Given the description of an element on the screen output the (x, y) to click on. 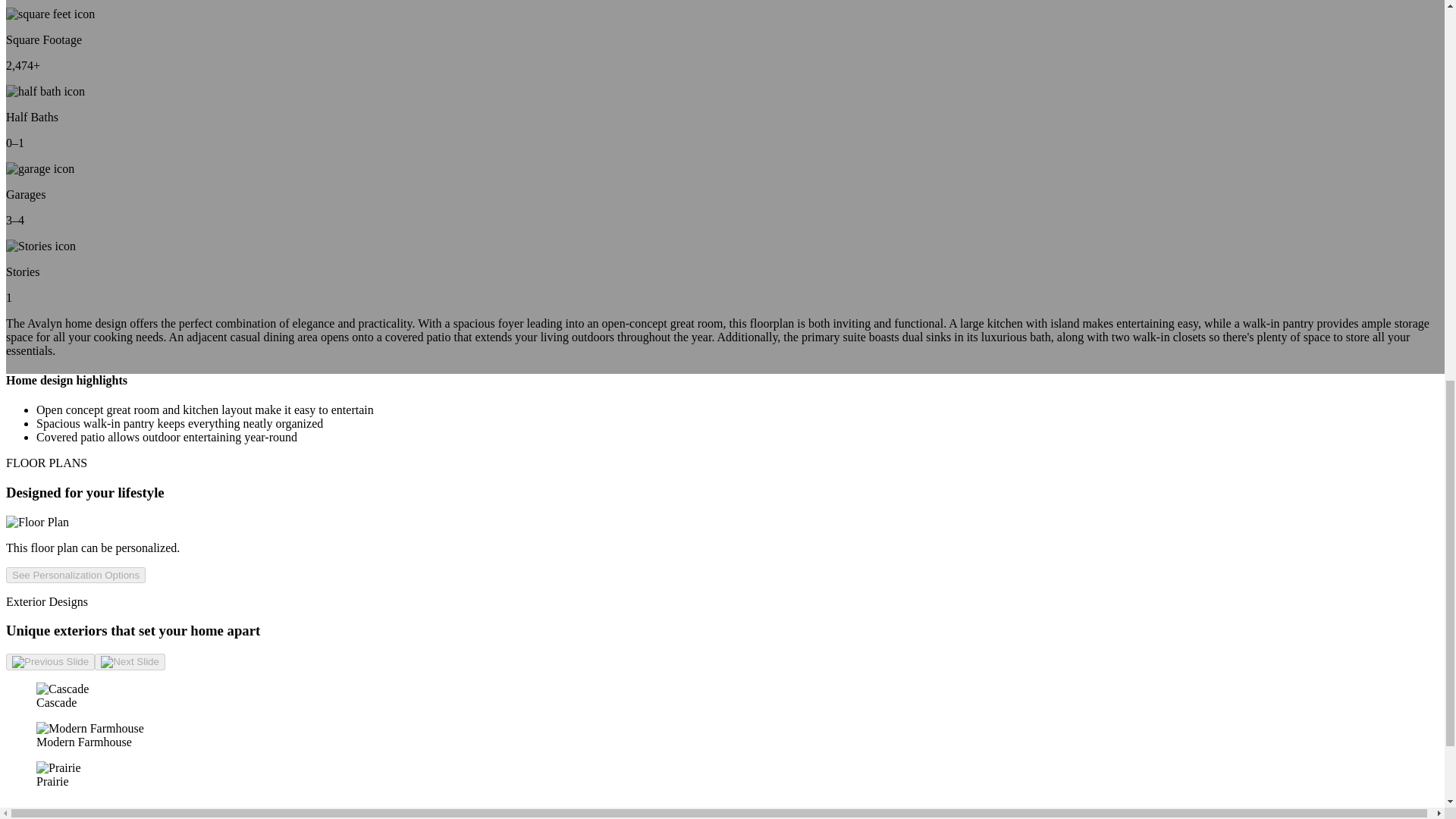
See Personalization Options (75, 575)
See Personalization Options (75, 573)
